Given the description of an element on the screen output the (x, y) to click on. 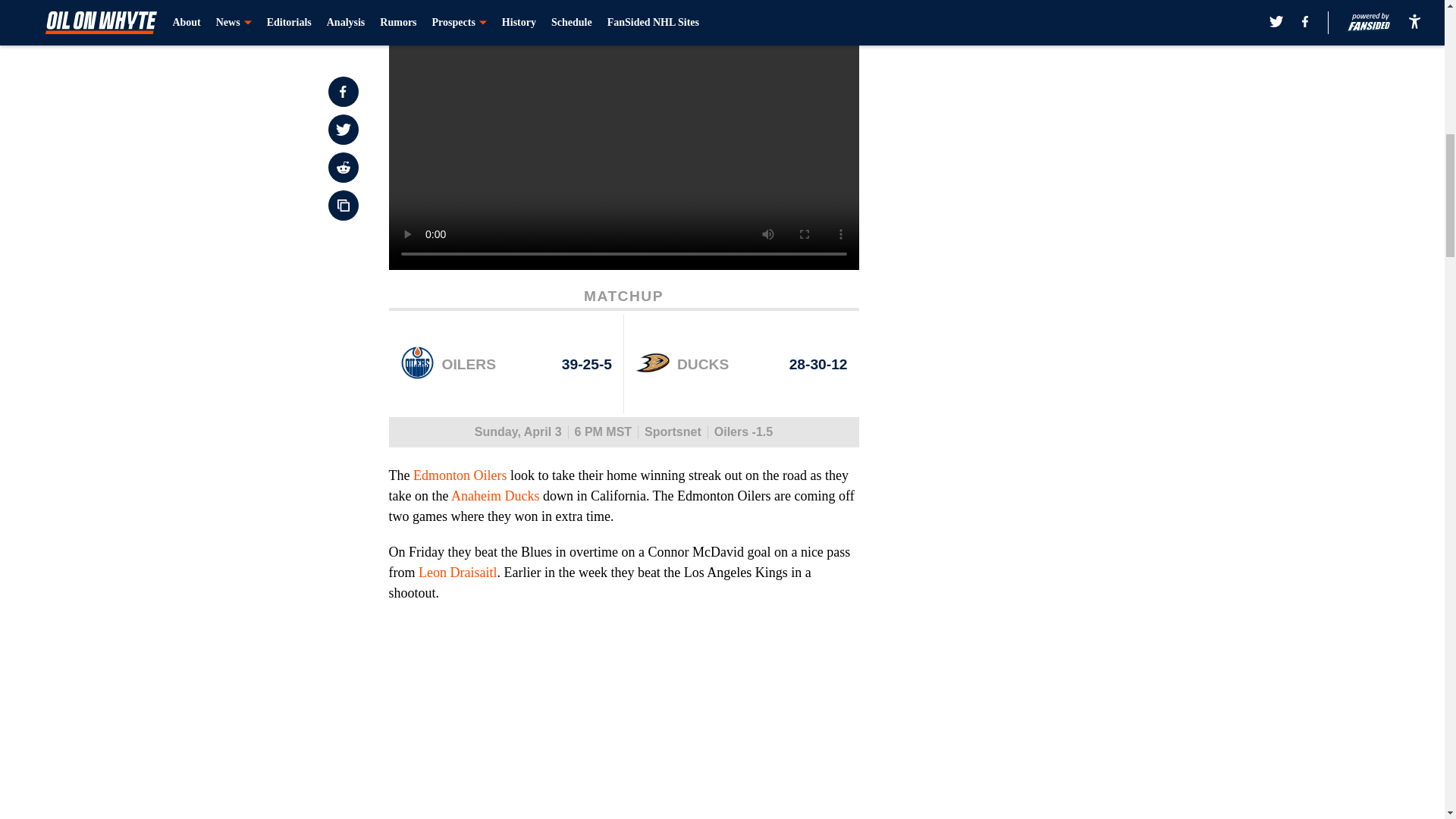
Leon Draisaitl (457, 572)
Anaheim Ducks (494, 495)
3rd party ad content (1047, 320)
Edmonton Oilers (459, 475)
3rd party ad content (1047, 100)
